Given the description of an element on the screen output the (x, y) to click on. 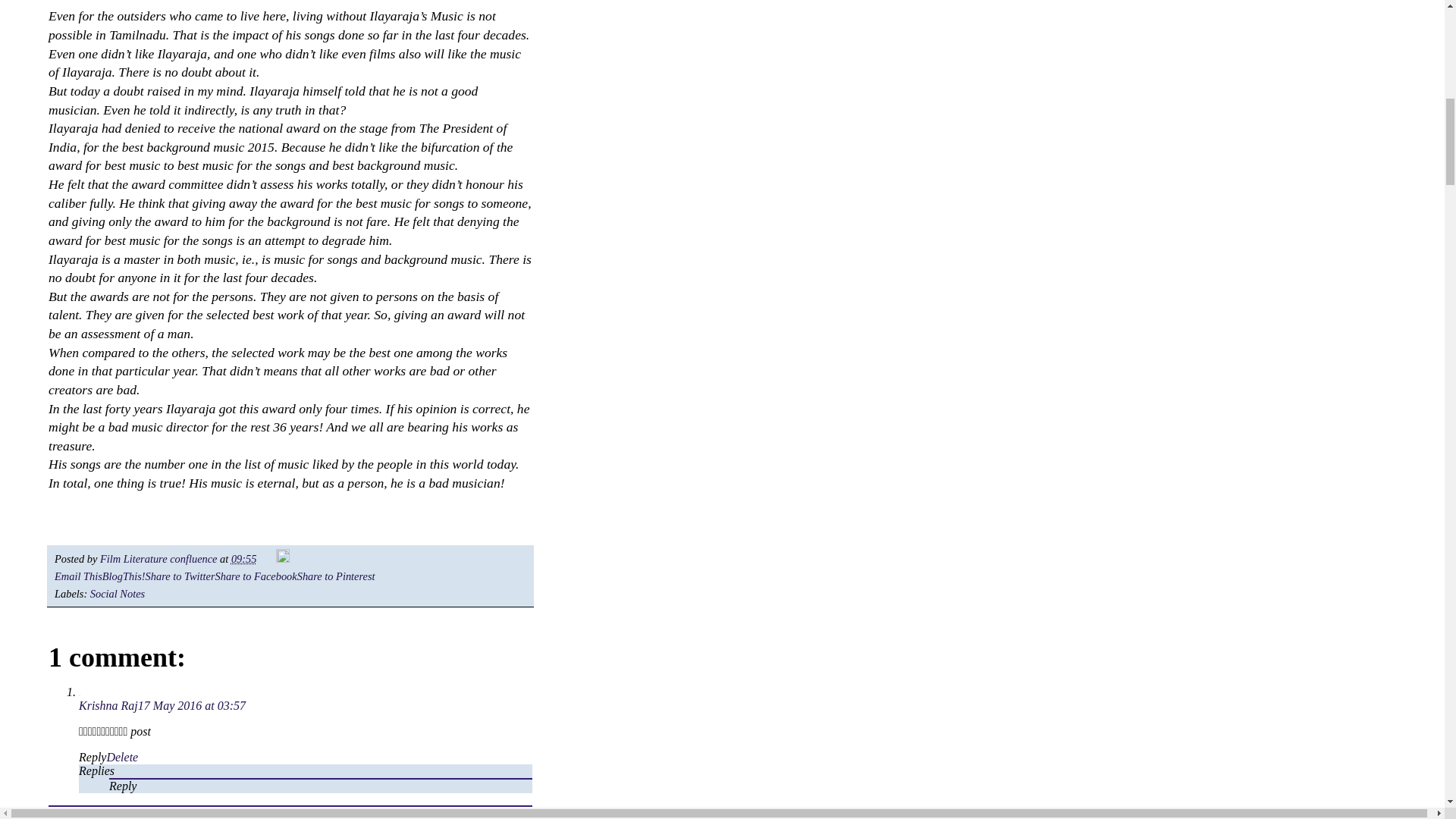
Edit Post (282, 558)
Share to Pinterest (336, 576)
09:55 (244, 558)
Film Literature confluence (159, 558)
Delete (122, 757)
Reply (122, 785)
Share to Twitter (180, 576)
Reply (92, 757)
17 May 2016 at 03:57 (192, 705)
BlogThis! (123, 576)
author profile (159, 558)
Add comment (81, 812)
Share to Twitter (180, 576)
Social Notes (117, 593)
Email This (78, 576)
